Given the description of an element on the screen output the (x, y) to click on. 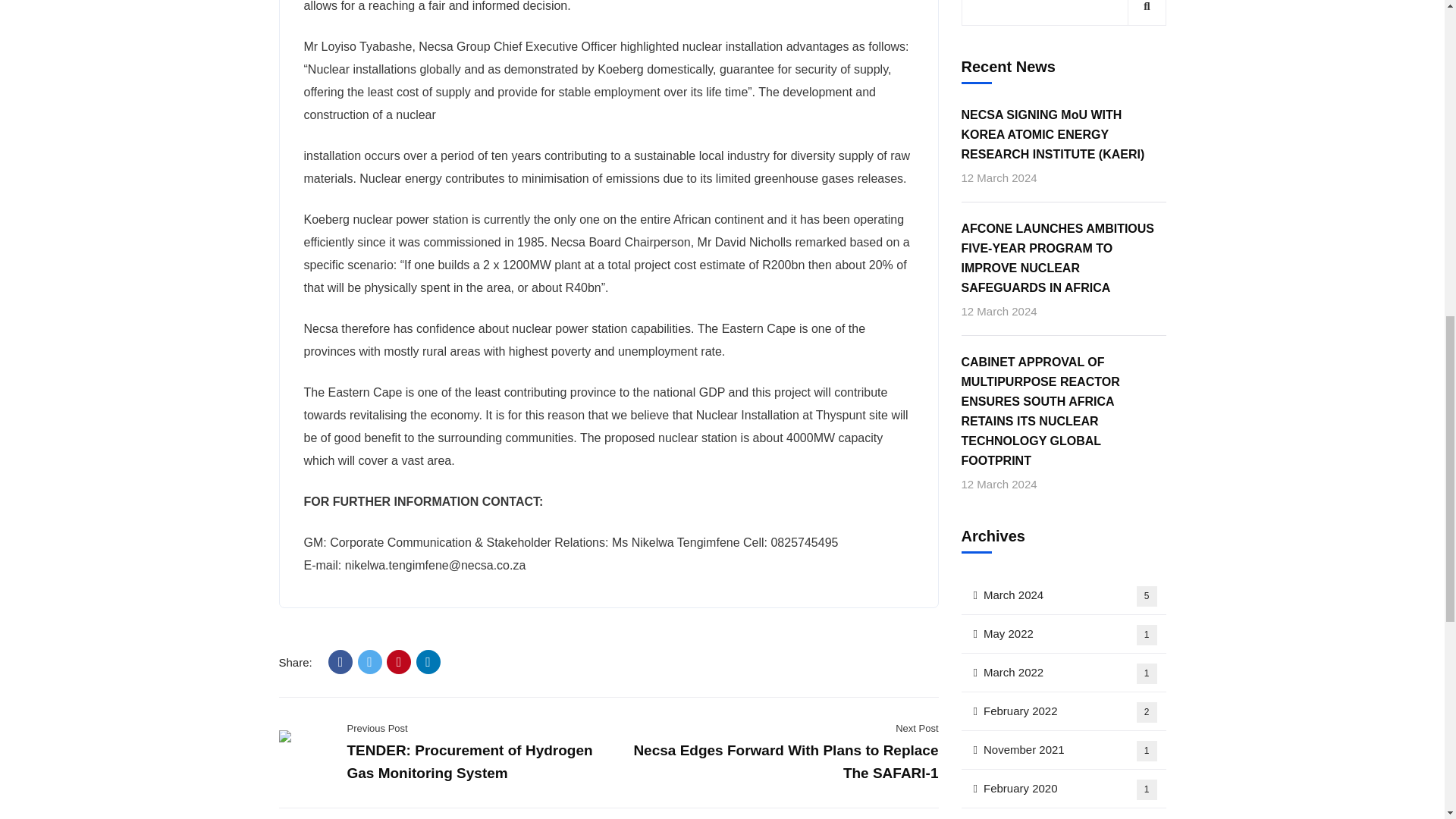
Pinterest (398, 662)
LinkedIn (428, 662)
Facebook (340, 662)
Twitter (369, 662)
